Given the description of an element on the screen output the (x, y) to click on. 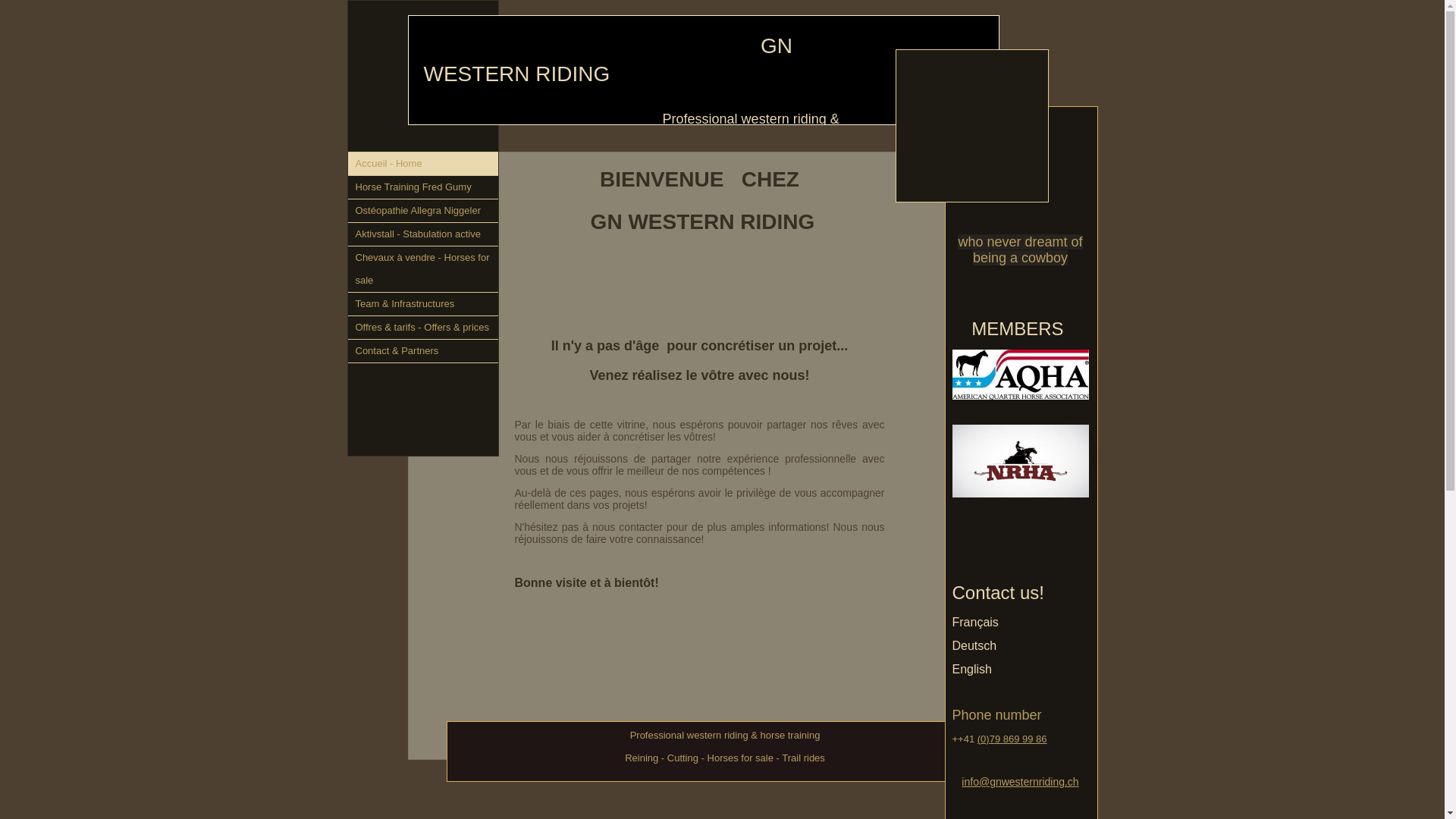
Accueil - Home Element type: text (422, 163)
(0)79 869 99 86 Element type: text (1012, 738)
Horse Training Fred Gumy Element type: text (422, 187)
Aktivstall - Stabulation active Element type: text (422, 234)
Team & Infrastructures Element type: text (422, 304)
Offres & tarifs - Offers & prices Element type: text (422, 327)
info@gnwesternriding.ch Element type: text (1019, 781)
Contact & Partners Element type: text (422, 351)
